Given the description of an element on the screen output the (x, y) to click on. 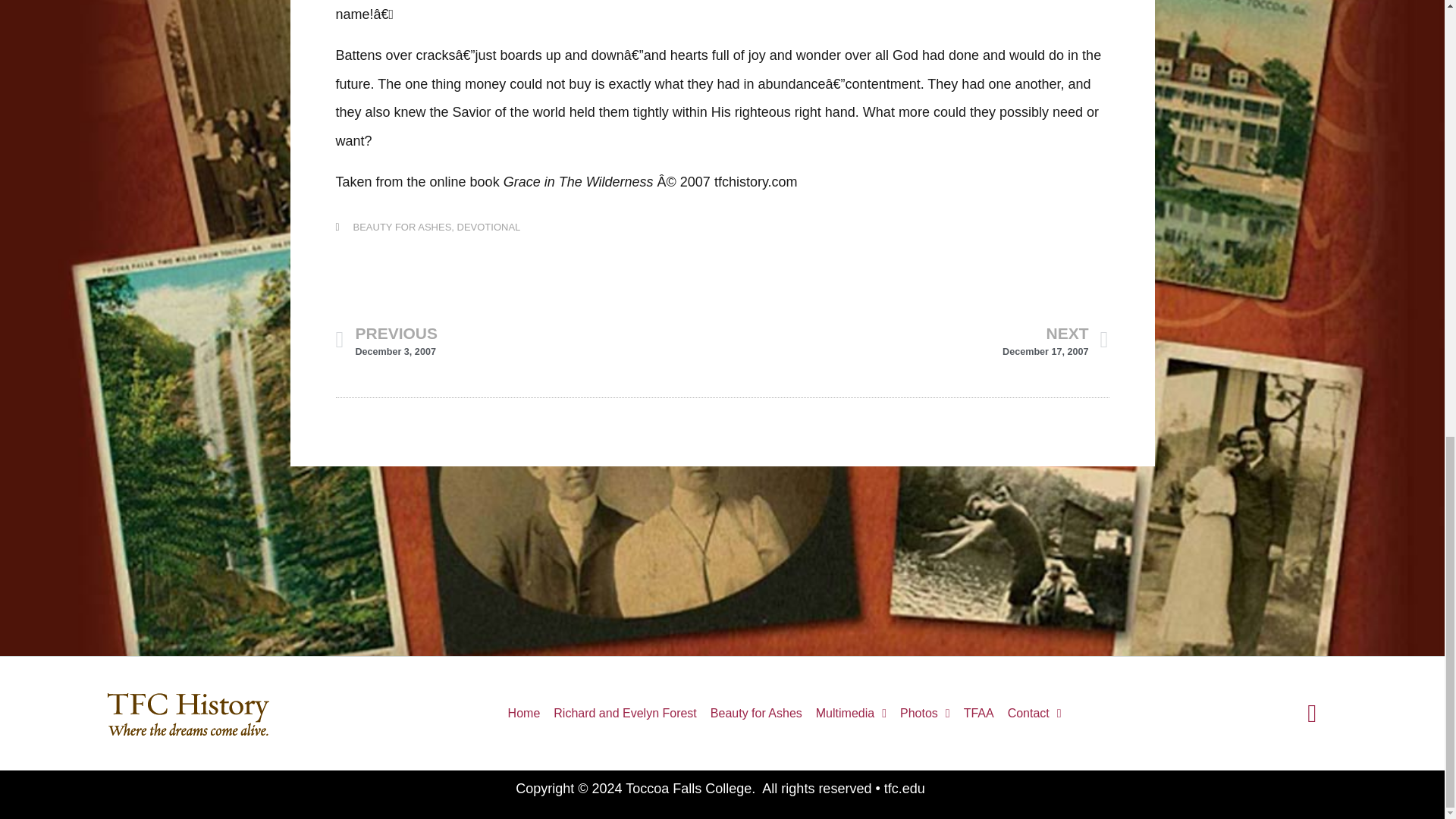
Multimedia (851, 713)
BEAUTY FOR ASHES (915, 340)
Photos (528, 340)
DEVOTIONAL (402, 226)
Home (924, 713)
Beauty for Ashes (489, 226)
Richard and Evelyn Forest (523, 713)
